Given the description of an element on the screen output the (x, y) to click on. 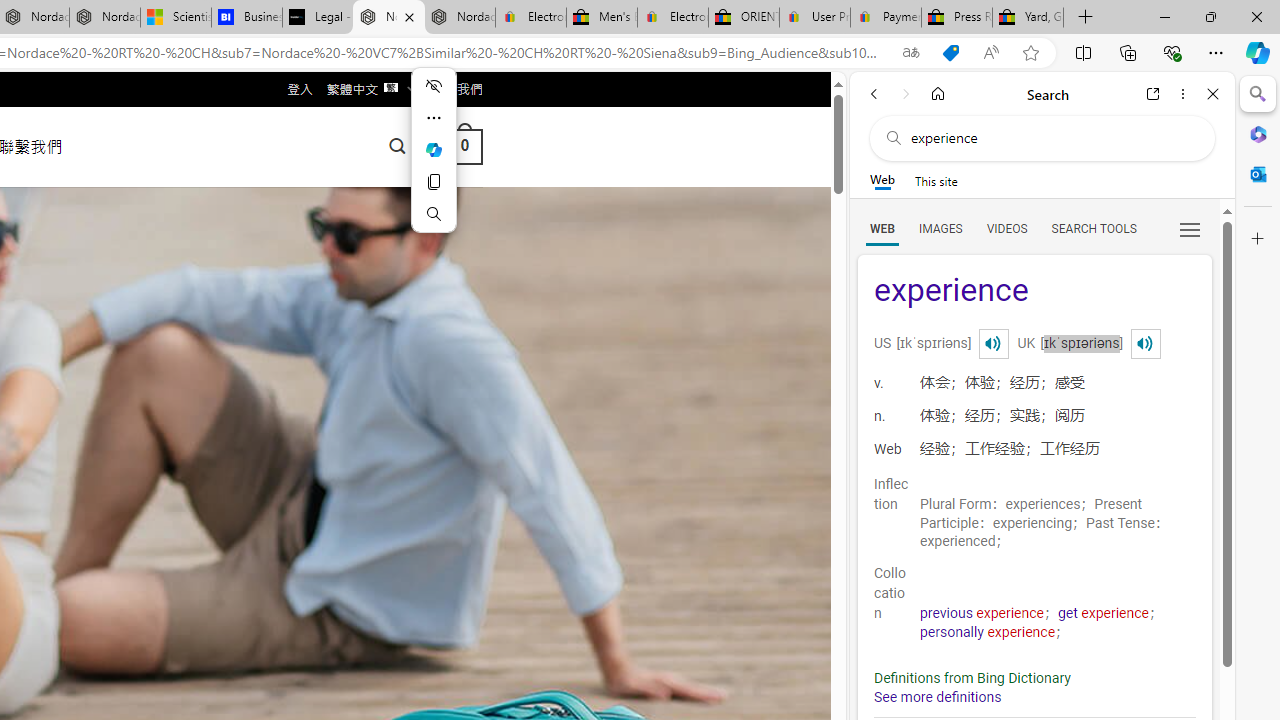
Copy (433, 182)
